Given the description of an element on the screen output the (x, y) to click on. 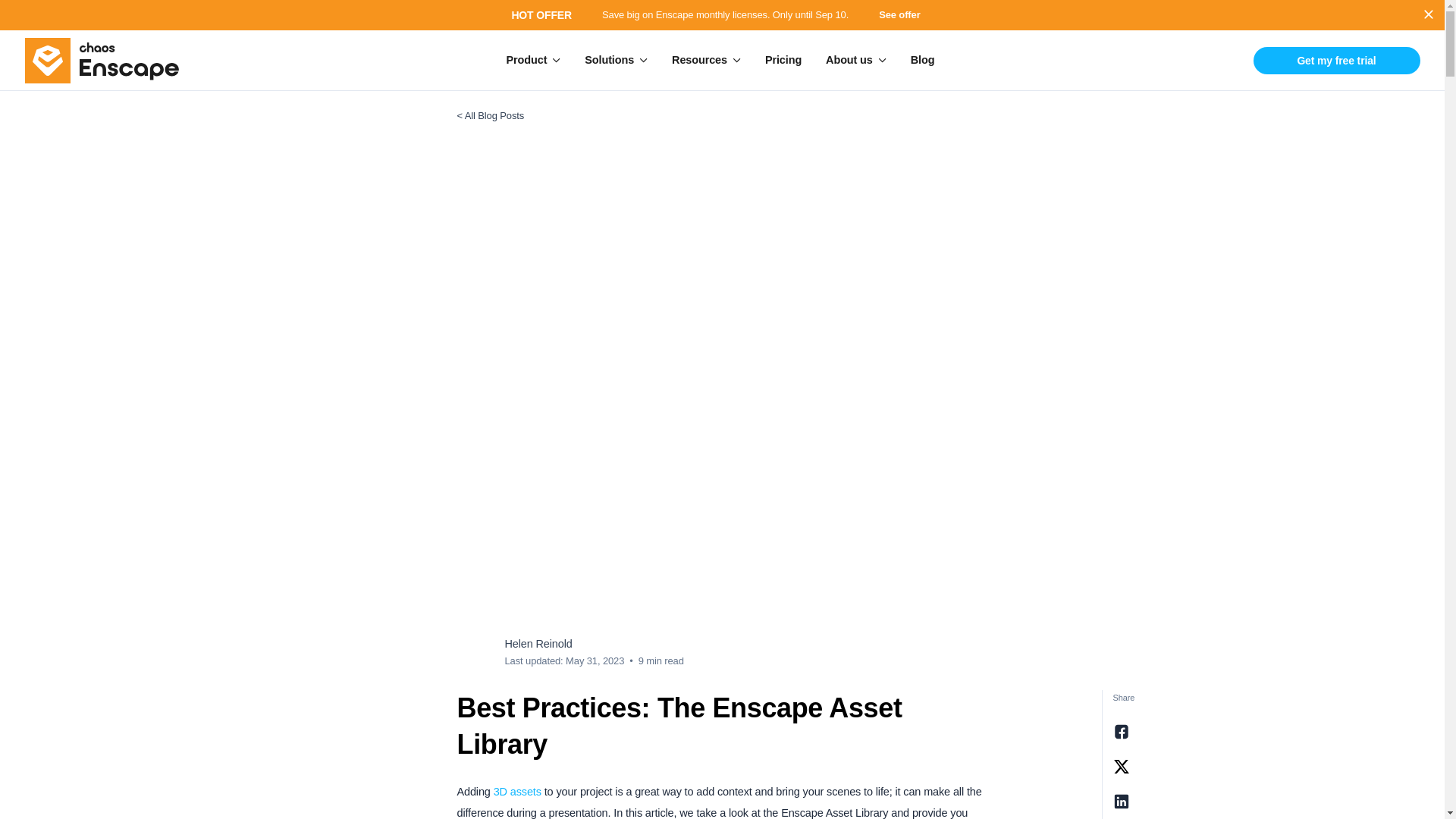
Share on LinkedIn (1121, 801)
Resources (705, 60)
Share on Facebook (1121, 731)
See offer (906, 14)
Share on X (1121, 766)
About us (855, 60)
Solutions (615, 60)
Enscape3d Logo (101, 59)
Pricing (782, 60)
Product (534, 60)
